Given the description of an element on the screen output the (x, y) to click on. 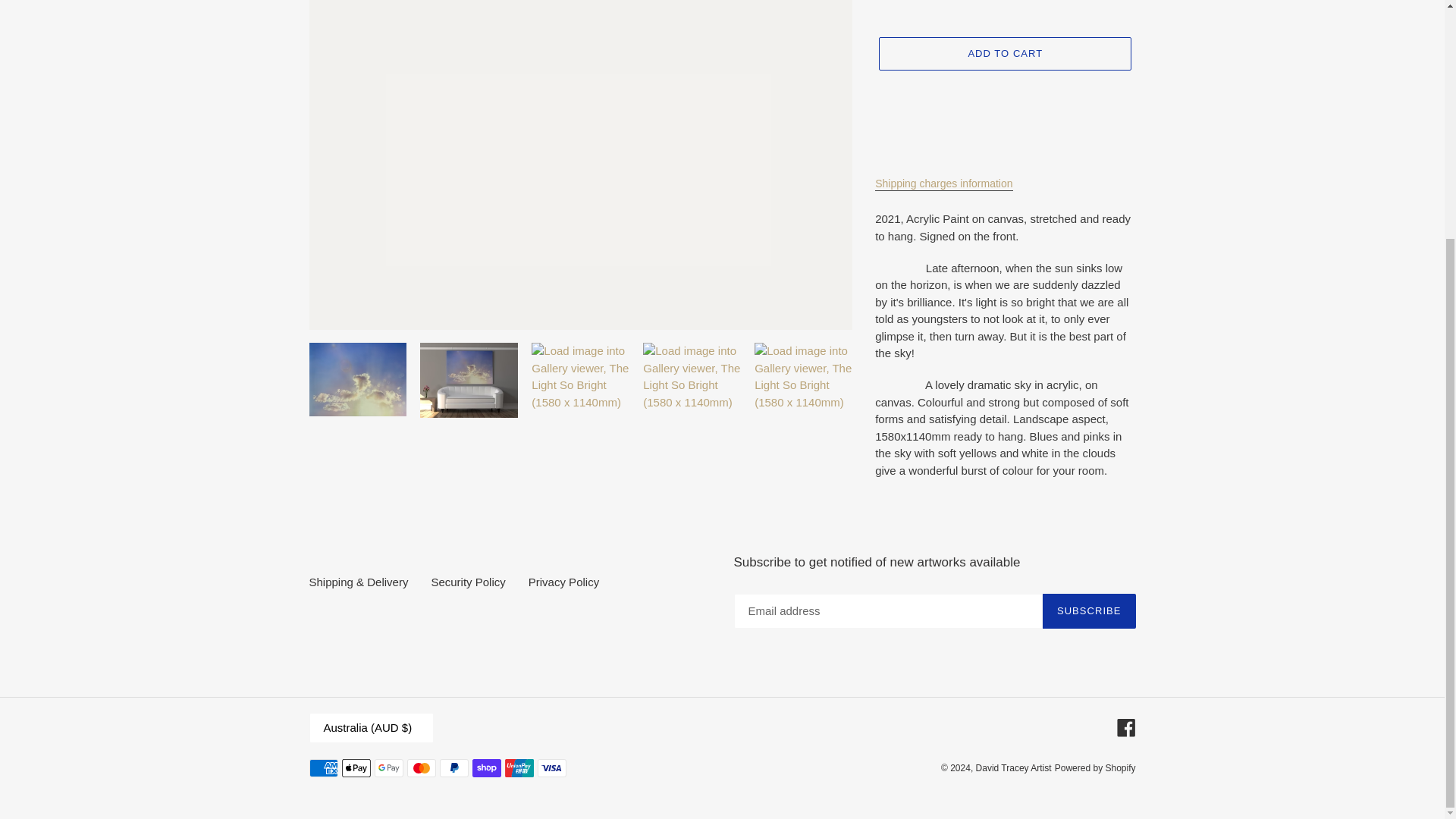
Shipping charges information (943, 183)
ADD TO CART (1005, 53)
SUBSCRIBE (1088, 610)
Privacy Policy (563, 581)
Security Policy (467, 581)
Shipping charges information (943, 183)
